Given the description of an element on the screen output the (x, y) to click on. 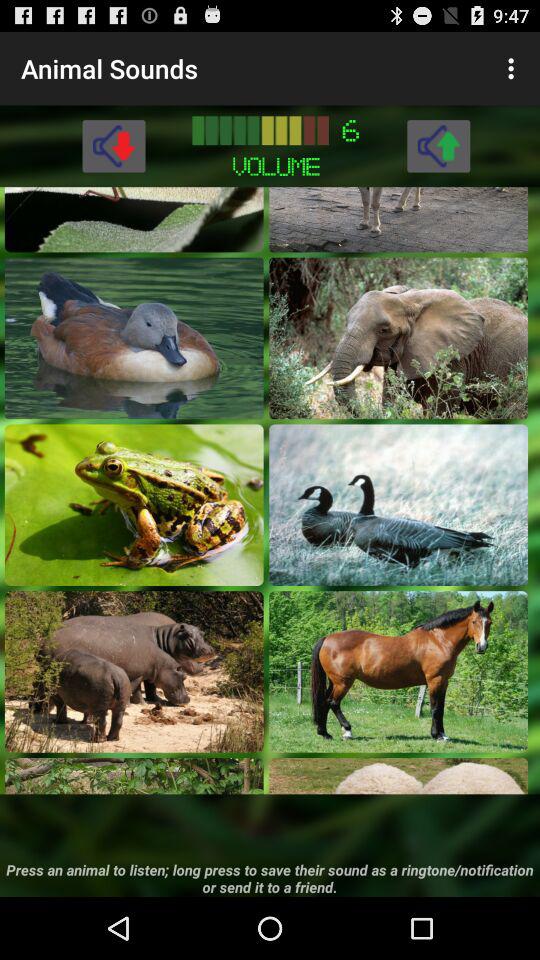
open page (133, 337)
